Given the description of an element on the screen output the (x, y) to click on. 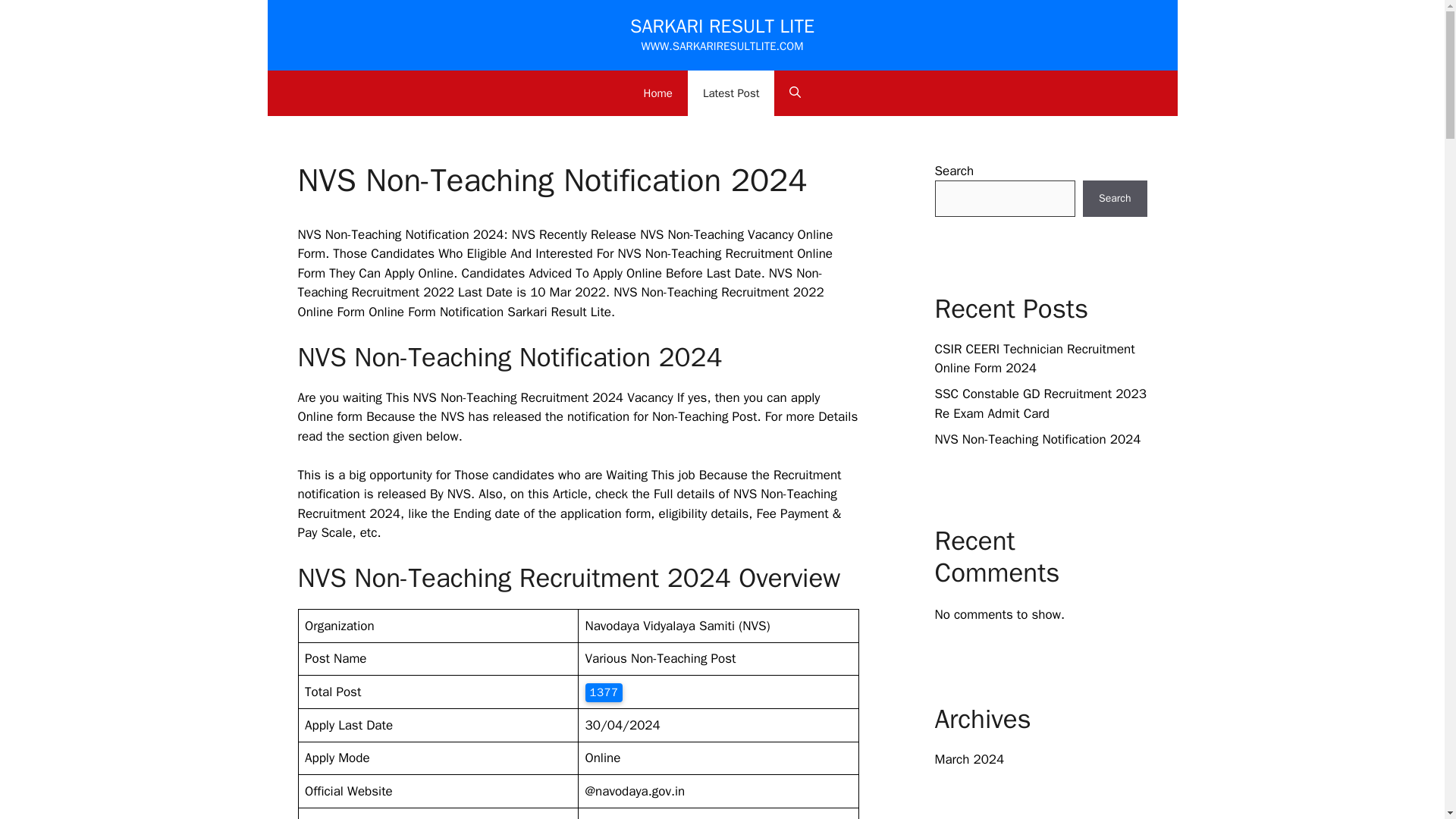
NVS Non-Teaching Notification 2024 (1037, 438)
March 2024 (969, 759)
Telegram Group (629, 817)
Search (1115, 198)
CSIR CEERI Technician Recruitment Online Form 2024 (1034, 358)
SSC Constable GD Recruitment 2023 Re Exam Admit Card (1039, 403)
Latest Post (730, 92)
Home (657, 92)
SARKARI RESULT LITE (721, 25)
